Given the description of an element on the screen output the (x, y) to click on. 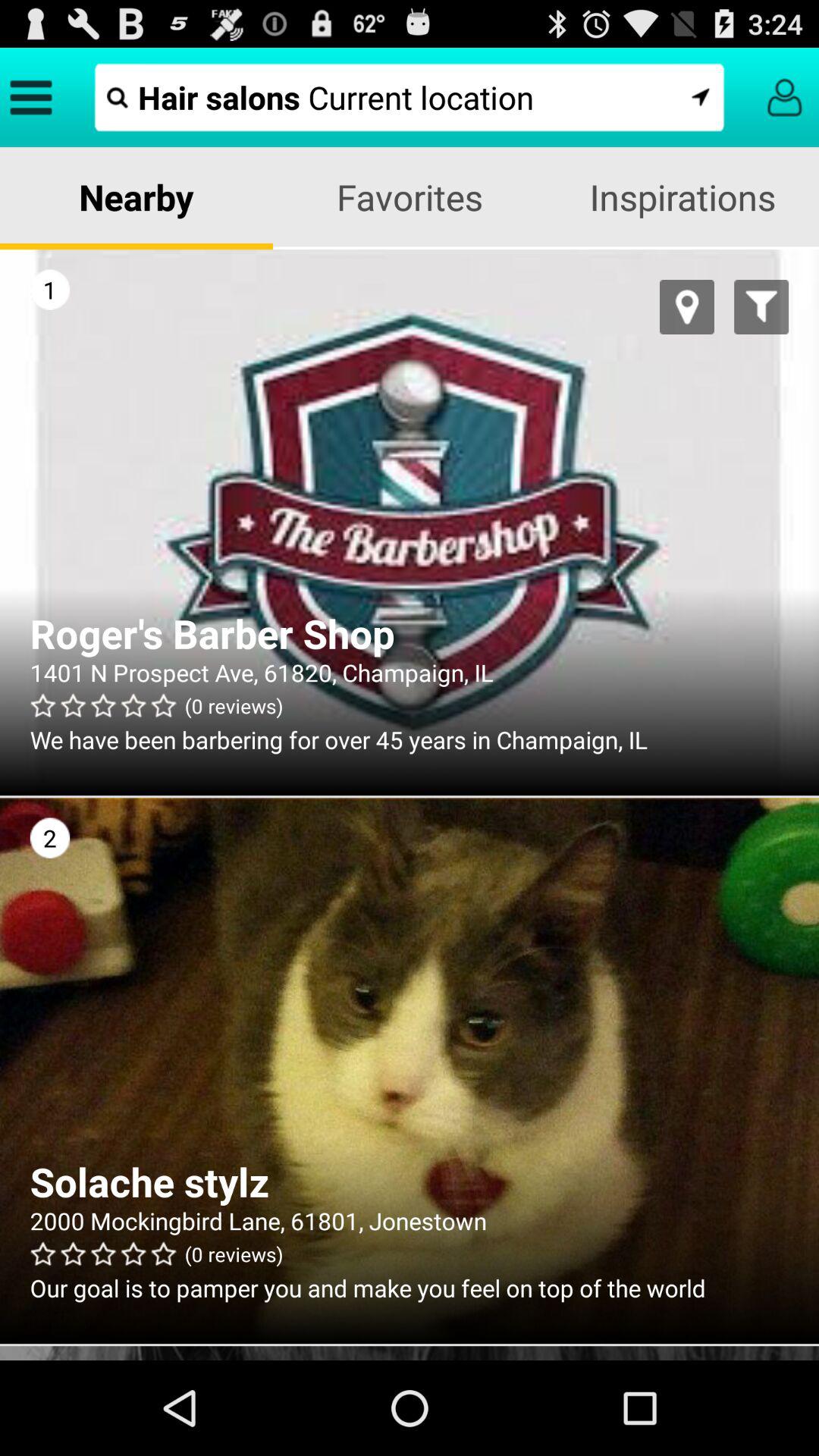
turn on app below the (0 reviews) (409, 1287)
